Given the description of an element on the screen output the (x, y) to click on. 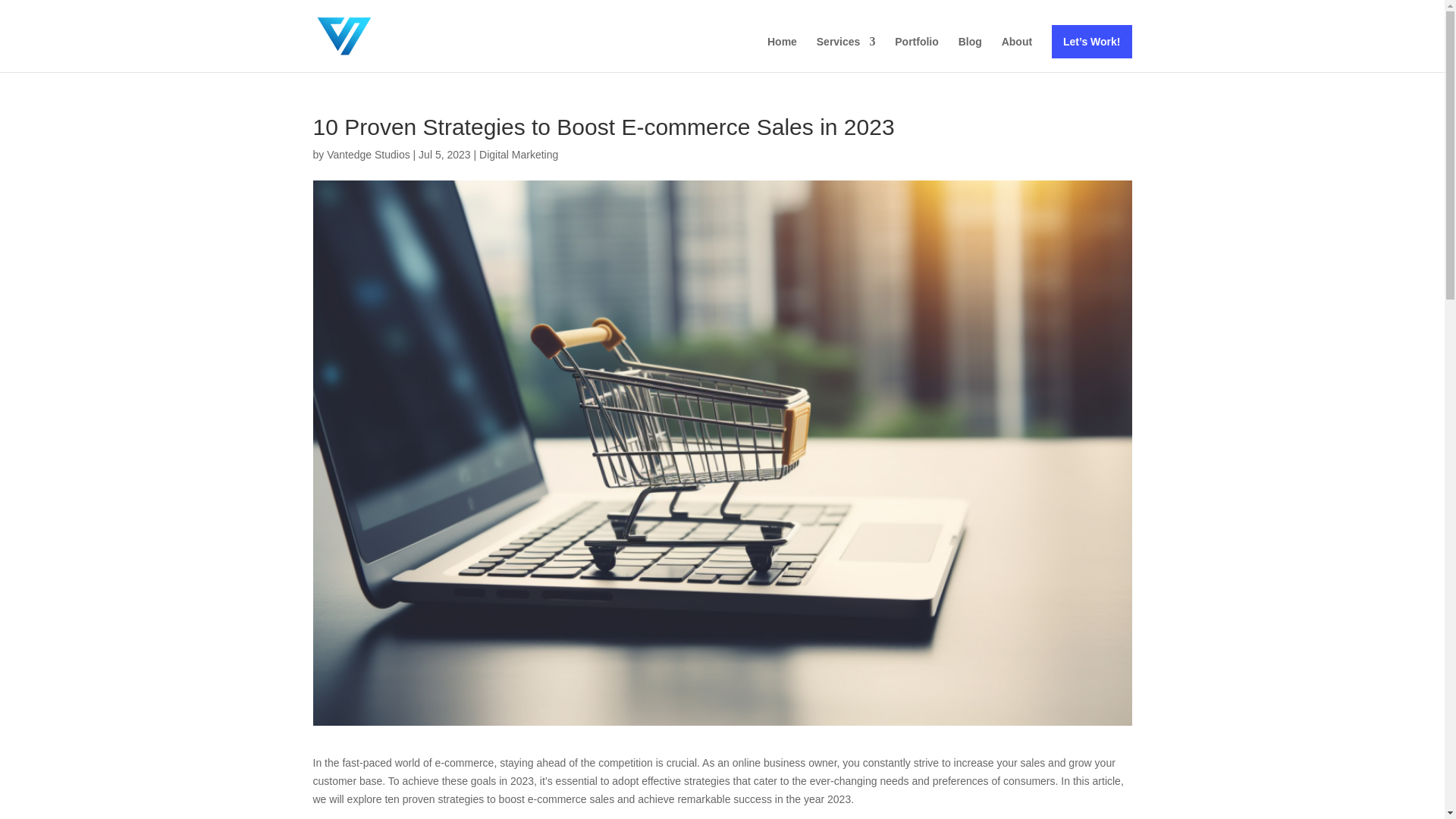
Digital Marketing (518, 154)
Vantedge Studios (368, 154)
Posts by Vantedge Studios (368, 154)
Portfolio (917, 54)
Services (846, 54)
